Given the description of an element on the screen output the (x, y) to click on. 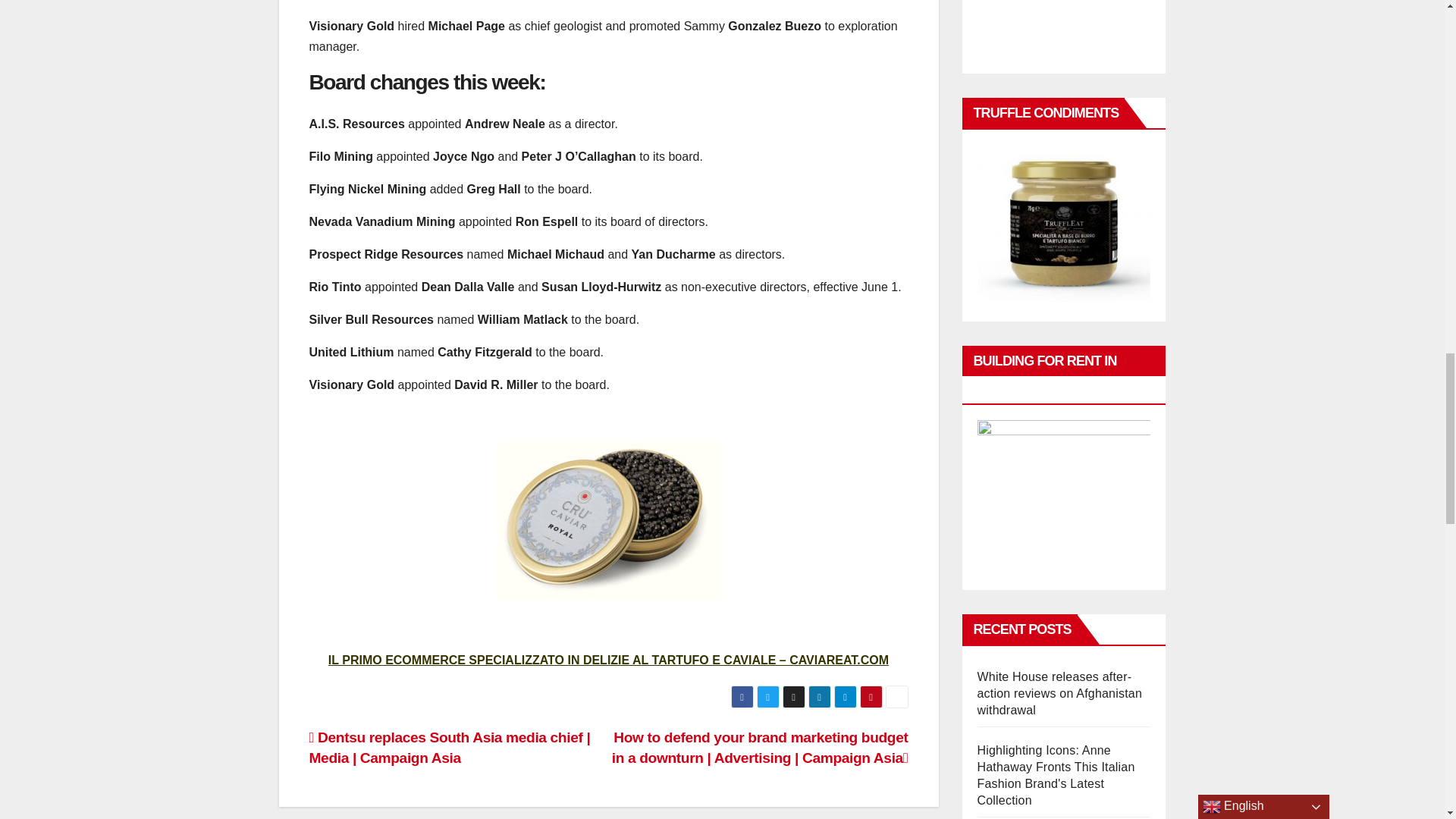
Mining people: Alamos Gold, Flying Nickel, Rio Tinto 3 (608, 520)
